Given the description of an element on the screen output the (x, y) to click on. 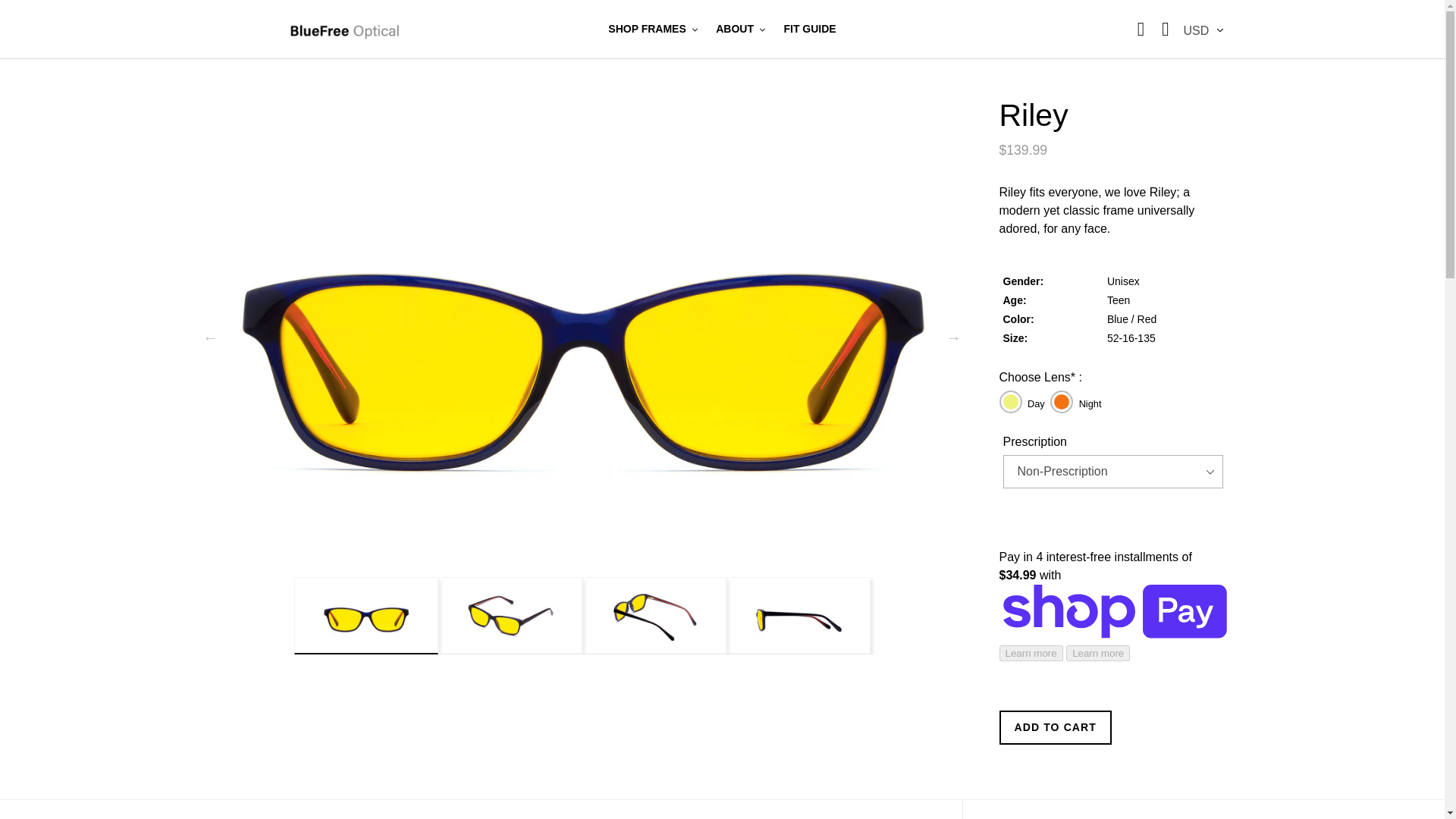
Next (953, 337)
FIT GUIDE (809, 28)
Previous (210, 337)
